Given the description of an element on the screen output the (x, y) to click on. 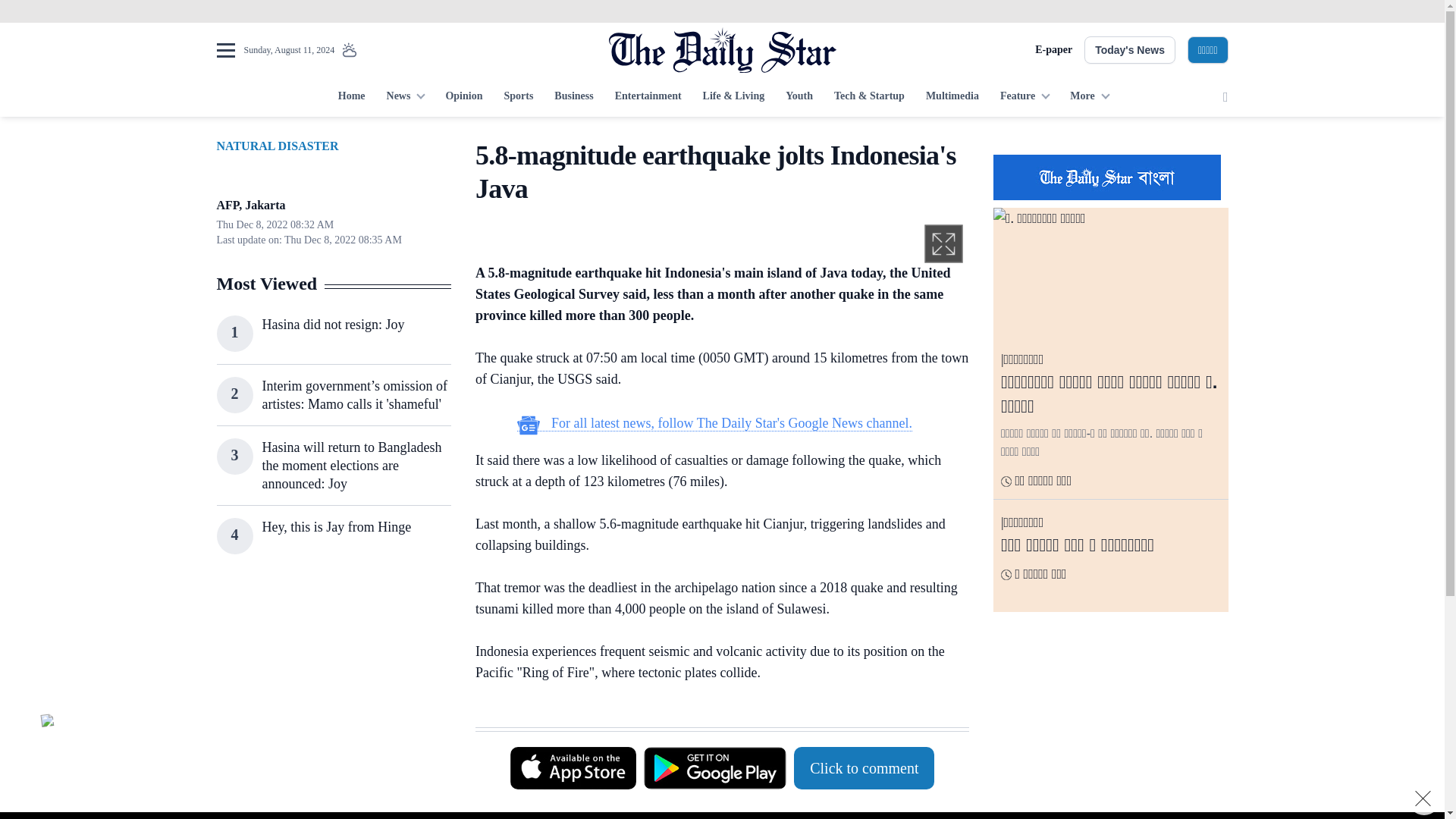
News (405, 96)
E-paper (1053, 49)
Today's News (1129, 49)
Home (351, 96)
Multimedia (952, 96)
Youth (799, 96)
Sports (518, 96)
Opinion (463, 96)
Feature (1024, 96)
